Given the description of an element on the screen output the (x, y) to click on. 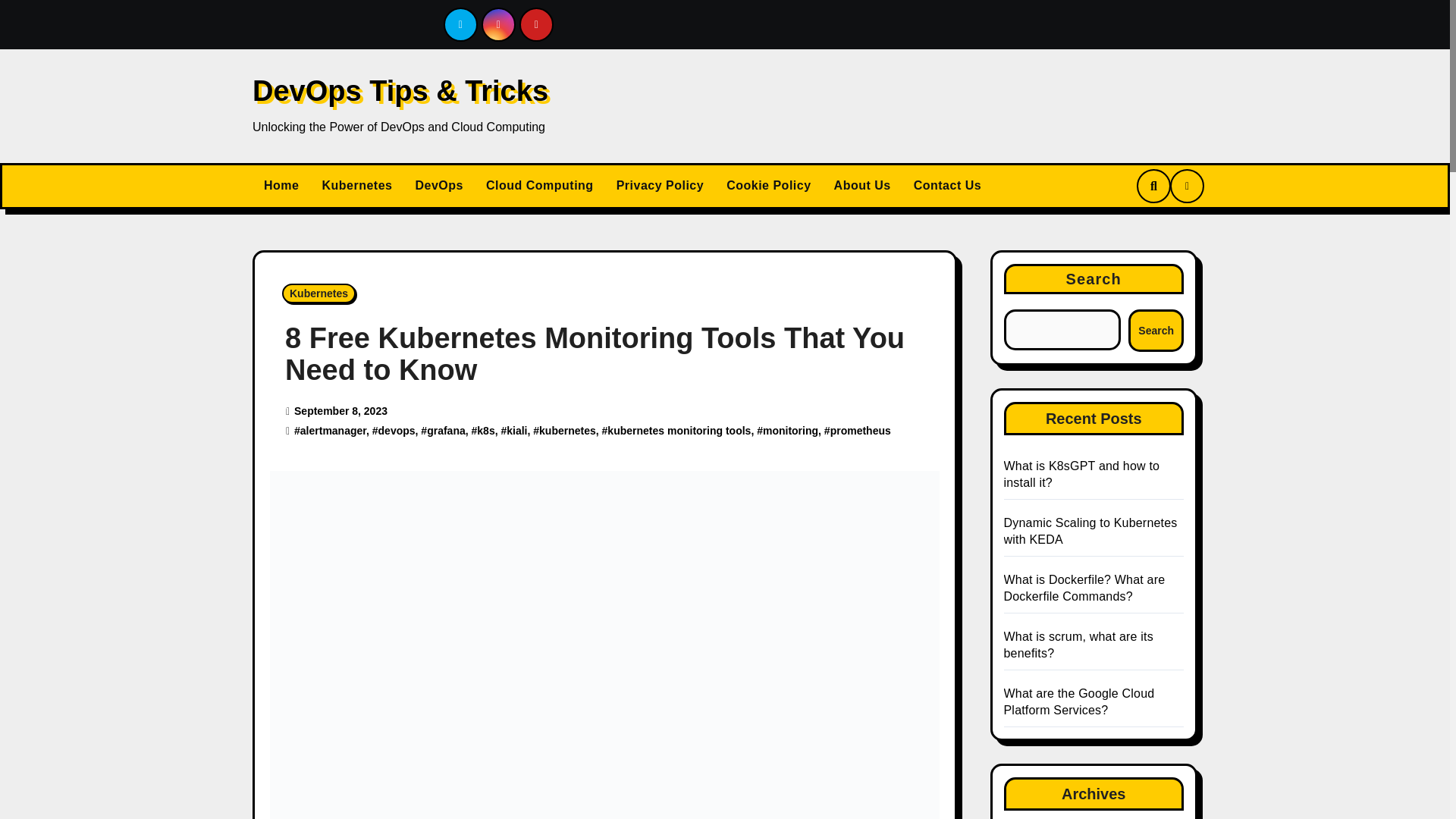
Kubernetes (318, 293)
Kubernetes (356, 185)
Privacy Policy (660, 185)
prometheus (860, 430)
Cookie Policy (768, 185)
Cloud Computing (539, 185)
Cloud Computing (539, 185)
grafana (445, 430)
About Us (862, 185)
About Us (862, 185)
